Given the description of an element on the screen output the (x, y) to click on. 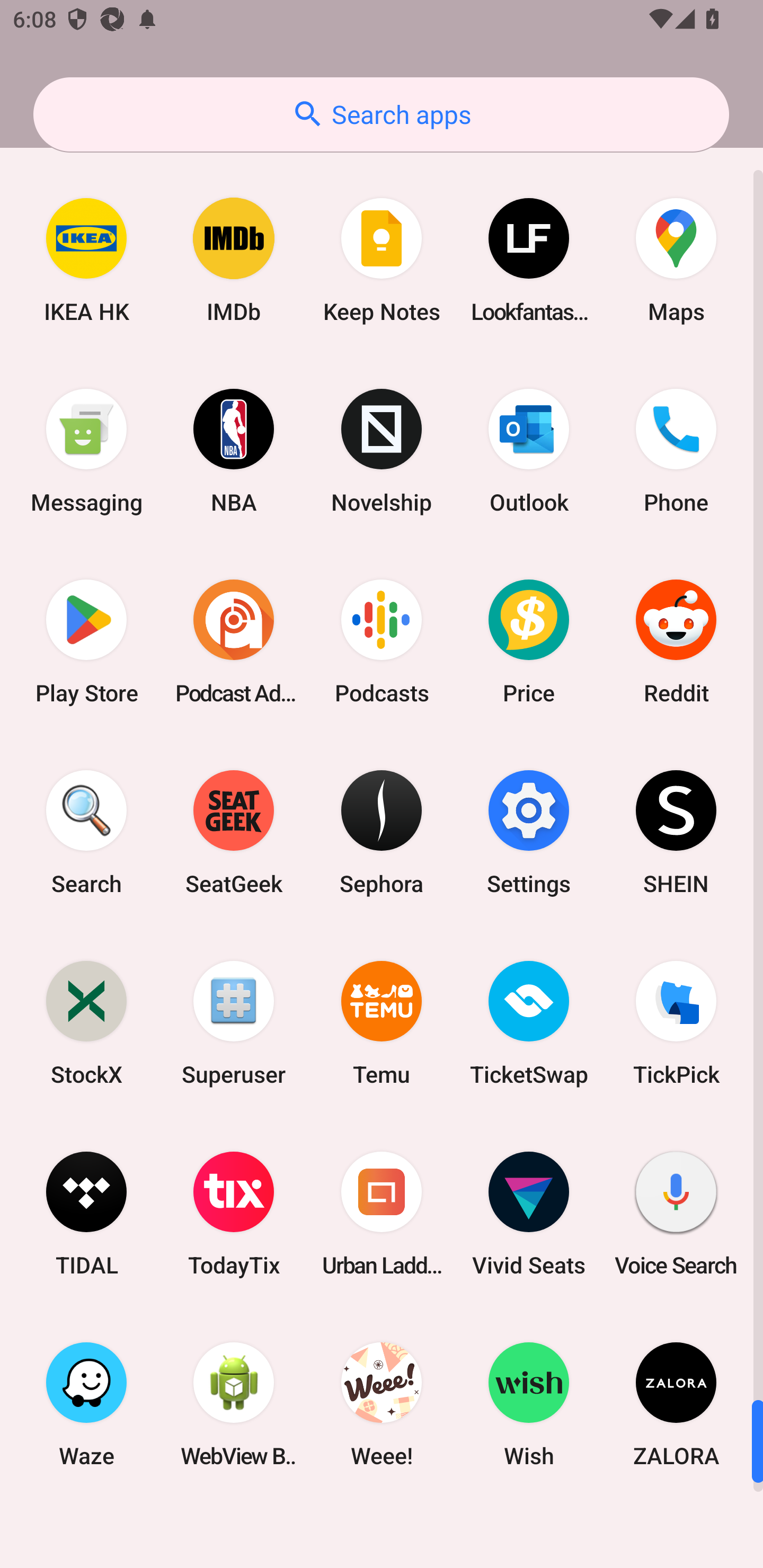
  Search apps (381, 114)
IKEA HK (86, 259)
IMDb (233, 259)
Keep Notes (381, 259)
Lookfantastic (528, 259)
Maps (676, 259)
Messaging (86, 450)
NBA (233, 450)
Novelship (381, 450)
Outlook (528, 450)
Phone (676, 450)
Play Store (86, 640)
Podcast Addict (233, 640)
Podcasts (381, 640)
Price (528, 640)
Reddit (676, 640)
Search (86, 832)
SeatGeek (233, 832)
Sephora (381, 832)
Settings (528, 832)
SHEIN (676, 832)
StockX (86, 1022)
Superuser (233, 1022)
Temu (381, 1022)
TicketSwap (528, 1022)
TickPick (676, 1022)
TIDAL (86, 1213)
TodayTix (233, 1213)
Urban Ladder (381, 1213)
Vivid Seats (528, 1213)
Voice Search (676, 1213)
Waze (86, 1404)
WebView Browser Tester (233, 1404)
Weee! (381, 1404)
Wish (528, 1404)
ZALORA (676, 1404)
